Given the description of an element on the screen output the (x, y) to click on. 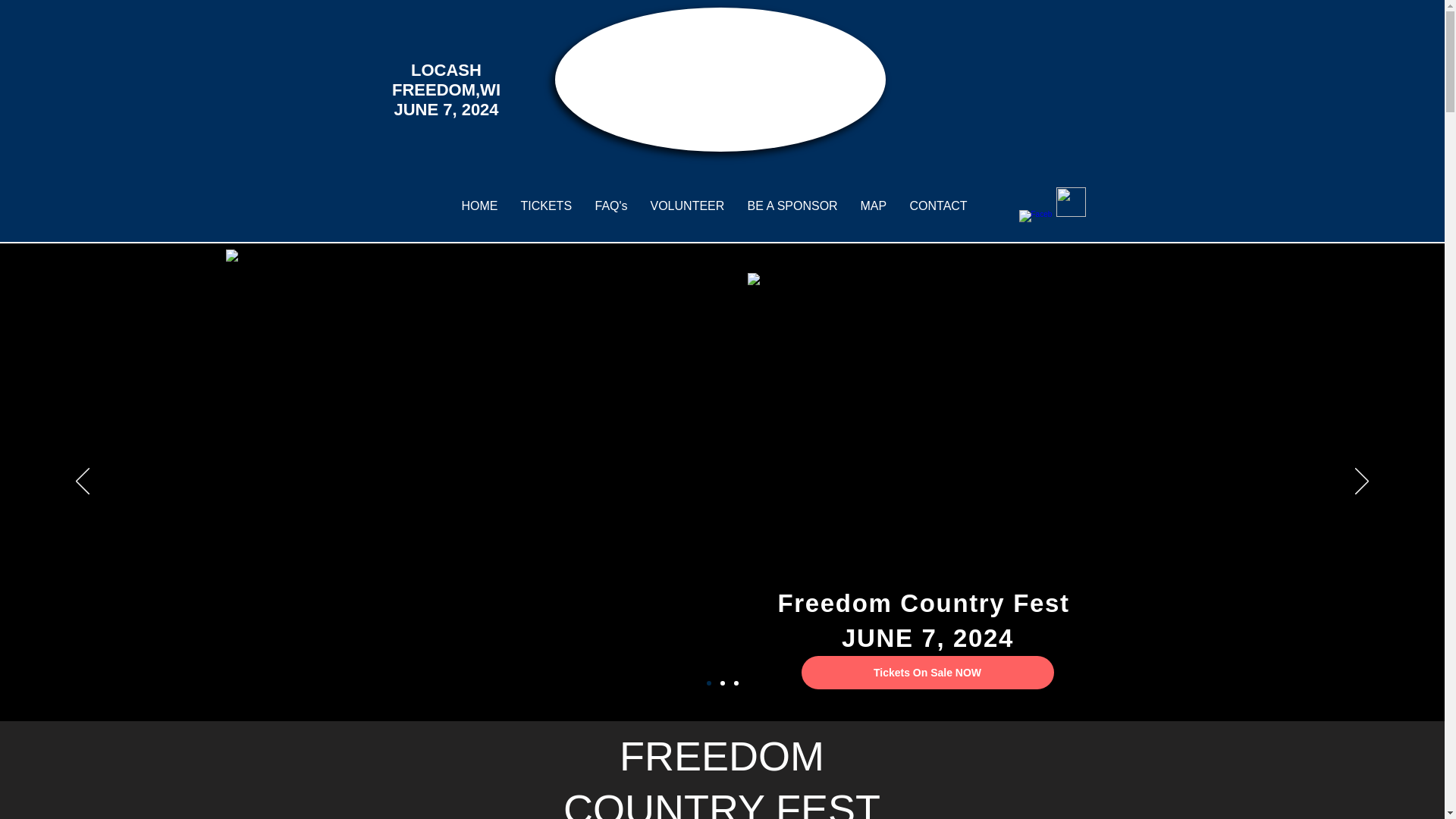
BE A SPONSOR (791, 206)
MAP (873, 206)
TICKETS (546, 206)
CONTACT (938, 206)
HOME (479, 206)
Tickets On Sale NOW (926, 672)
FAQ's (611, 206)
VOLUNTEER (687, 206)
